Given the description of an element on the screen output the (x, y) to click on. 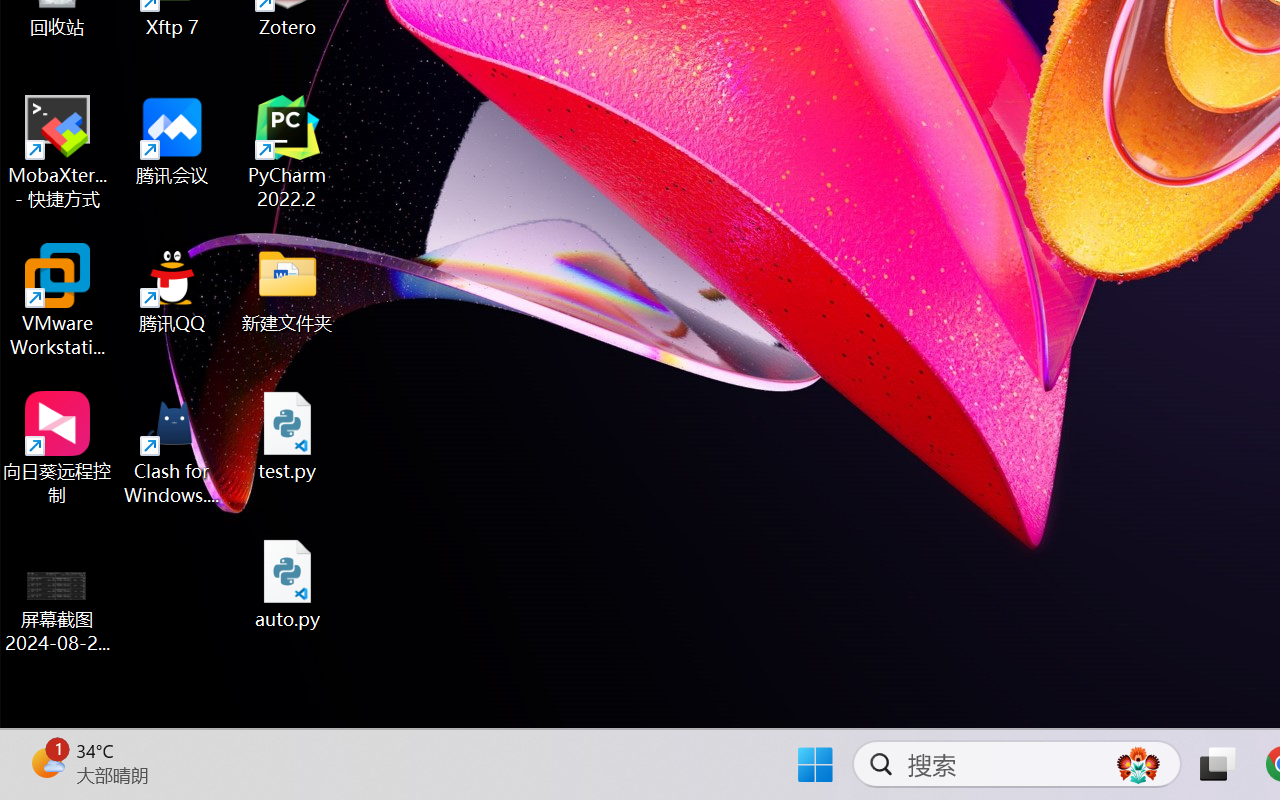
VMware Workstation Pro (57, 300)
test.py (287, 436)
auto.py (287, 584)
PyCharm 2022.2 (287, 152)
